Given the description of an element on the screen output the (x, y) to click on. 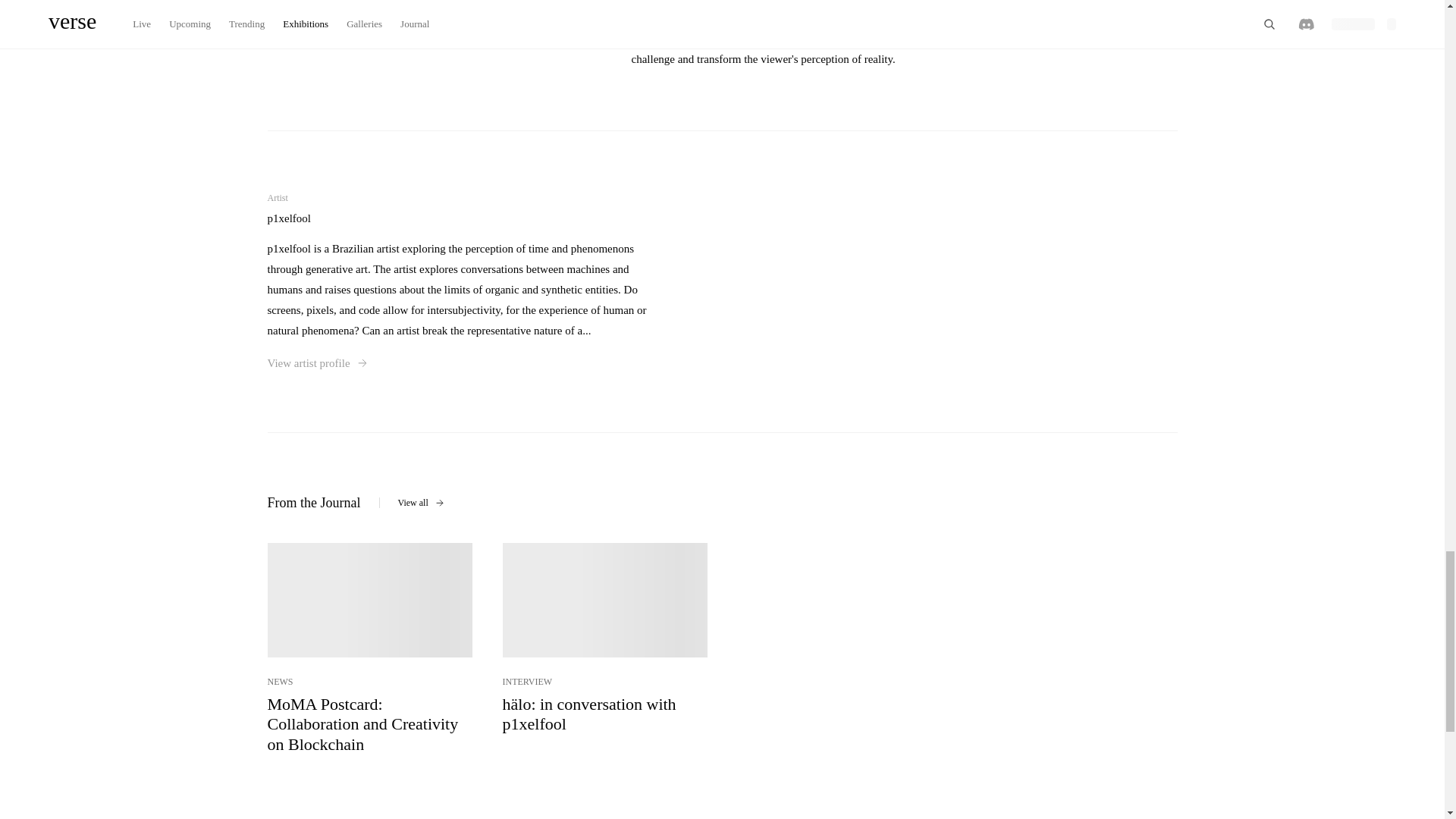
View all (420, 502)
View artist profile (315, 362)
